Given the description of an element on the screen output the (x, y) to click on. 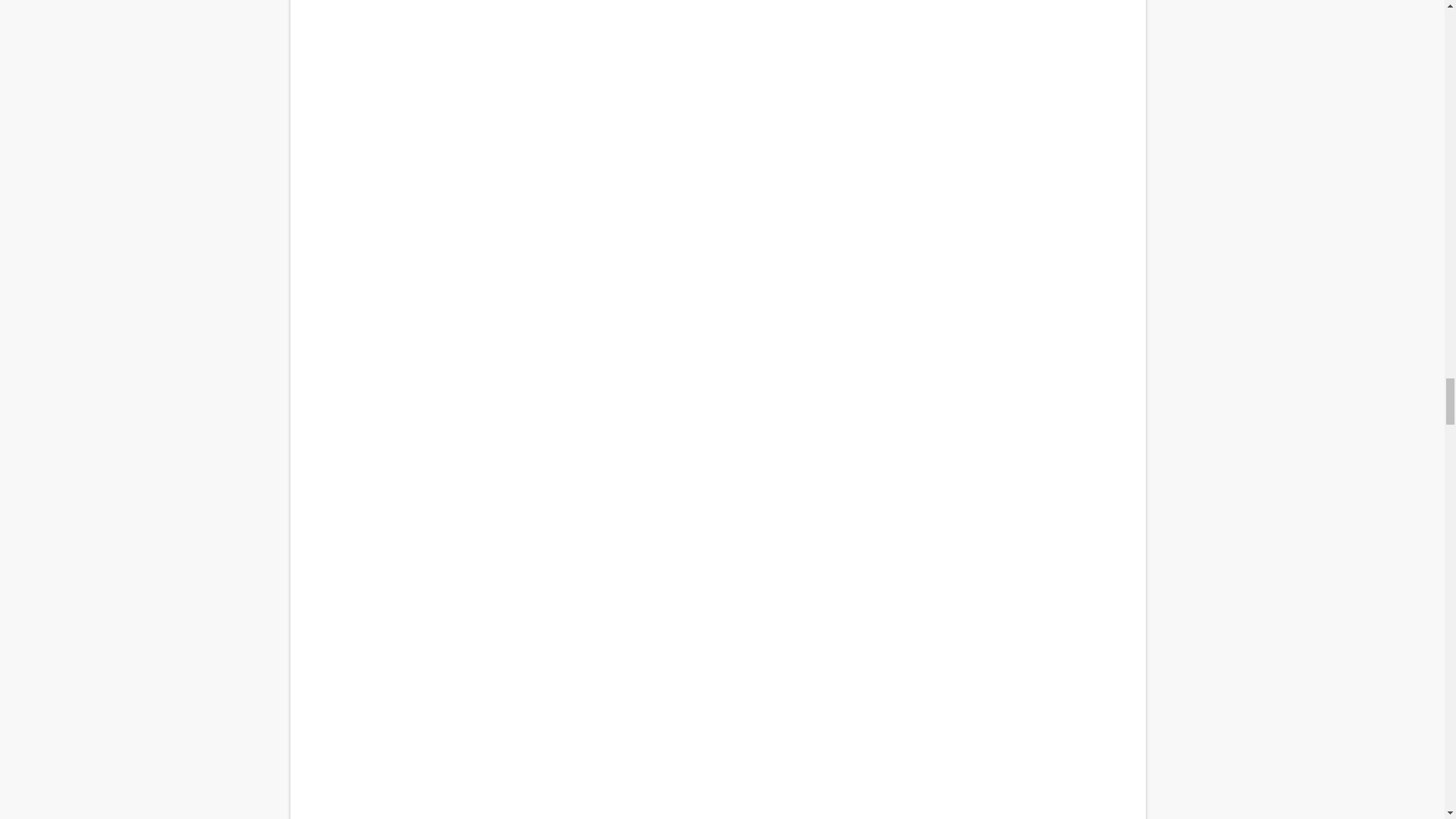
Topic Wise Words (717, 21)
